Given the description of an element on the screen output the (x, y) to click on. 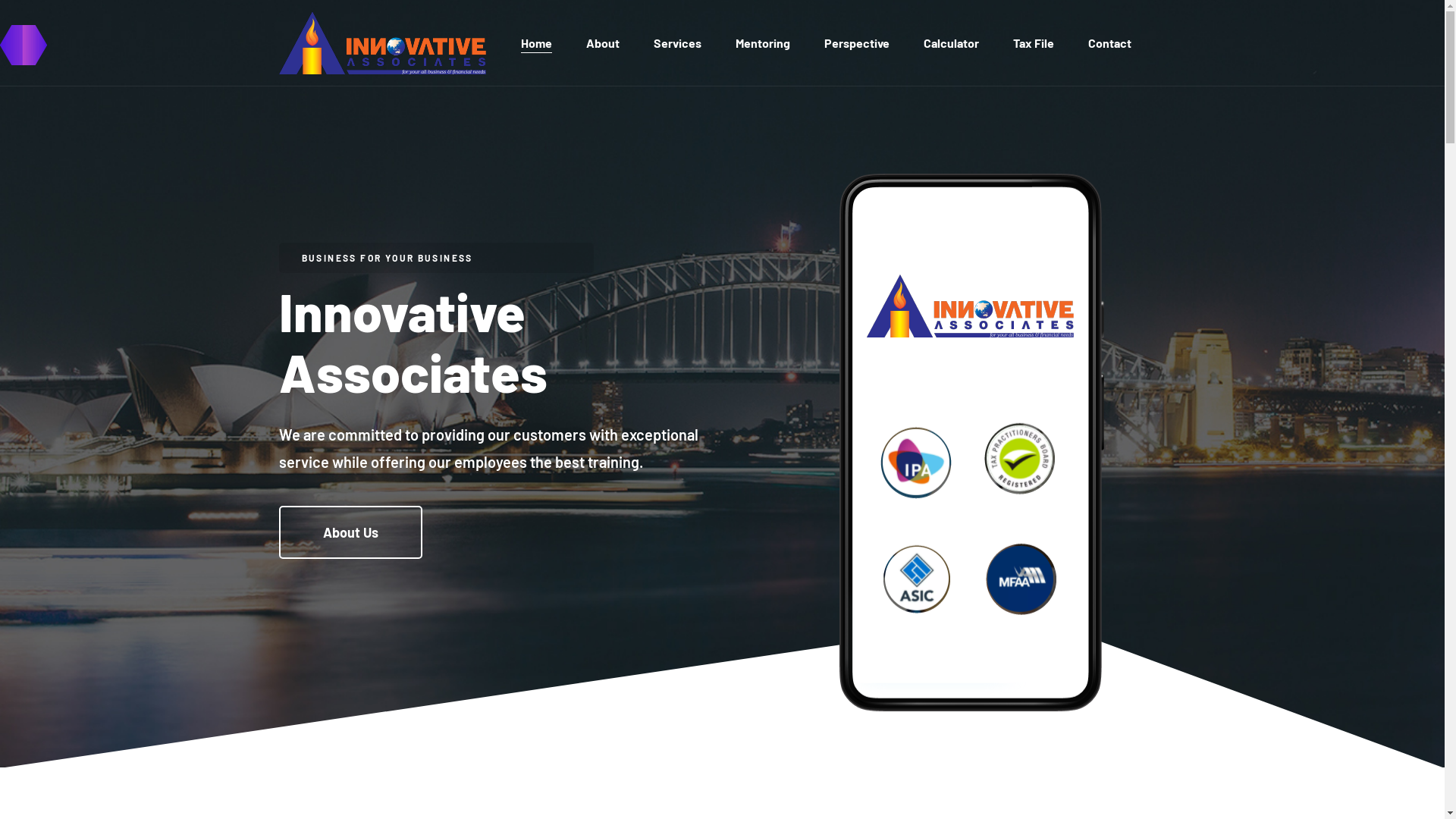
Home Element type: text (535, 42)
About Us Element type: text (350, 531)
Contact Element type: text (1108, 42)
Perspective Element type: text (855, 42)
About Element type: text (601, 42)
Tax File Element type: text (1033, 42)
Services Element type: text (677, 42)
Calculator Element type: text (951, 42)
Mentoring Element type: text (762, 42)
